Given the description of an element on the screen output the (x, y) to click on. 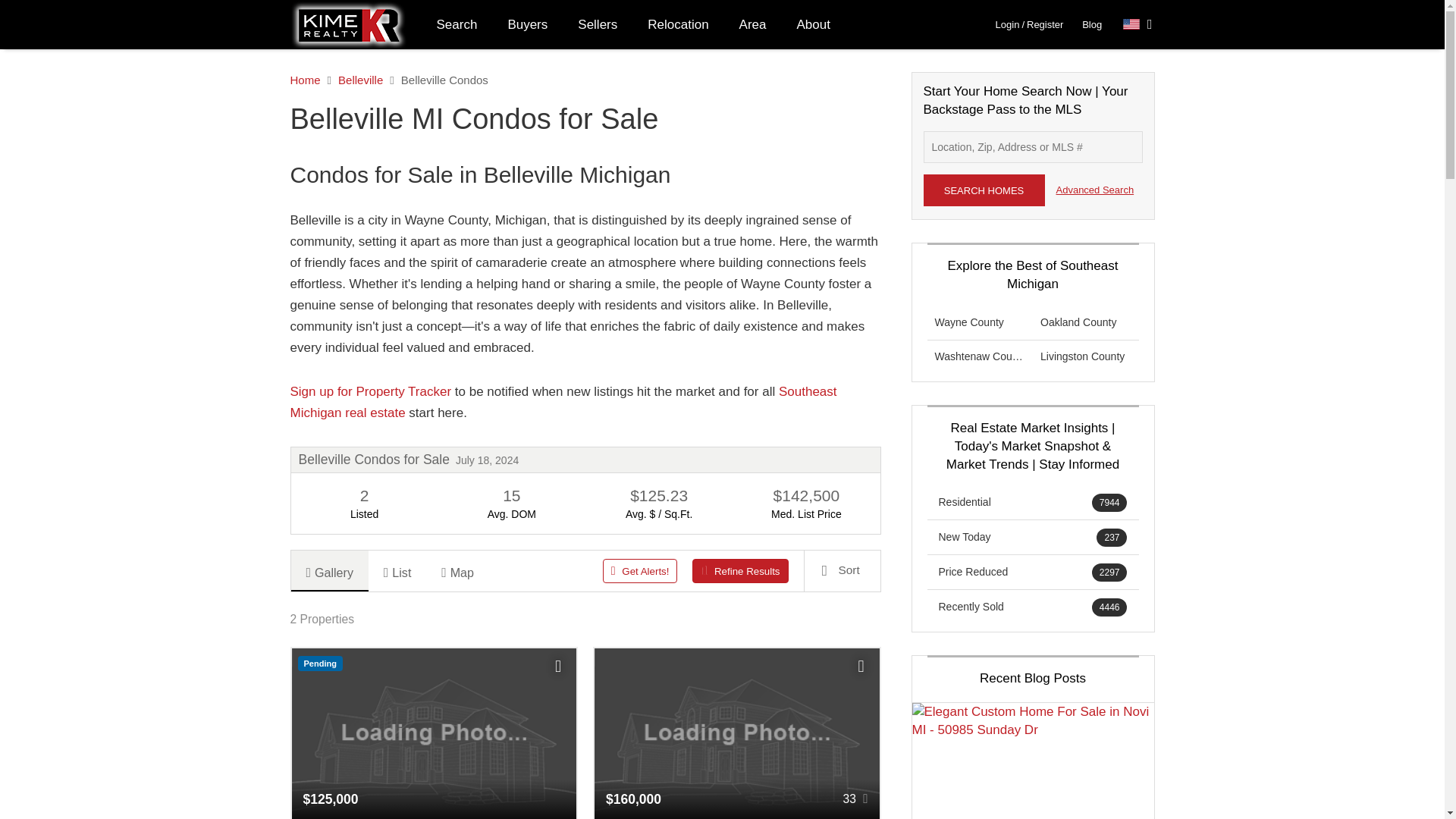
Select Language (1137, 24)
About (813, 24)
Buyers (527, 24)
Area (752, 24)
Search (457, 24)
Register (1044, 24)
Relocation (677, 24)
Sellers (596, 24)
